Given the description of an element on the screen output the (x, y) to click on. 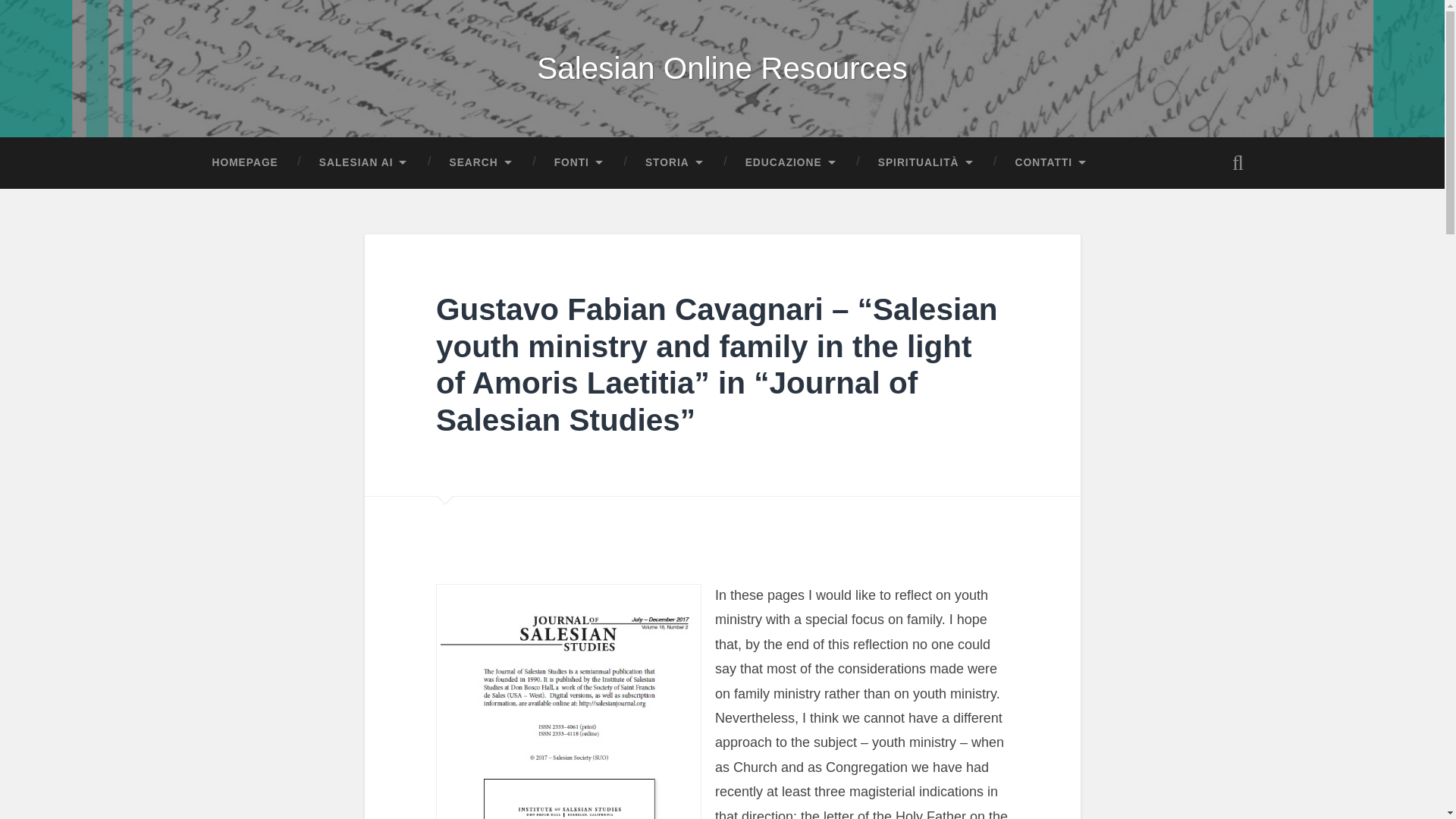
EDUCAZIONE (791, 162)
Salesian Online Resources (722, 67)
FONTI (579, 162)
SALESIAN AI (363, 162)
SEARCH (480, 162)
STORIA (674, 162)
HOMEPAGE (244, 162)
